Given the description of an element on the screen output the (x, y) to click on. 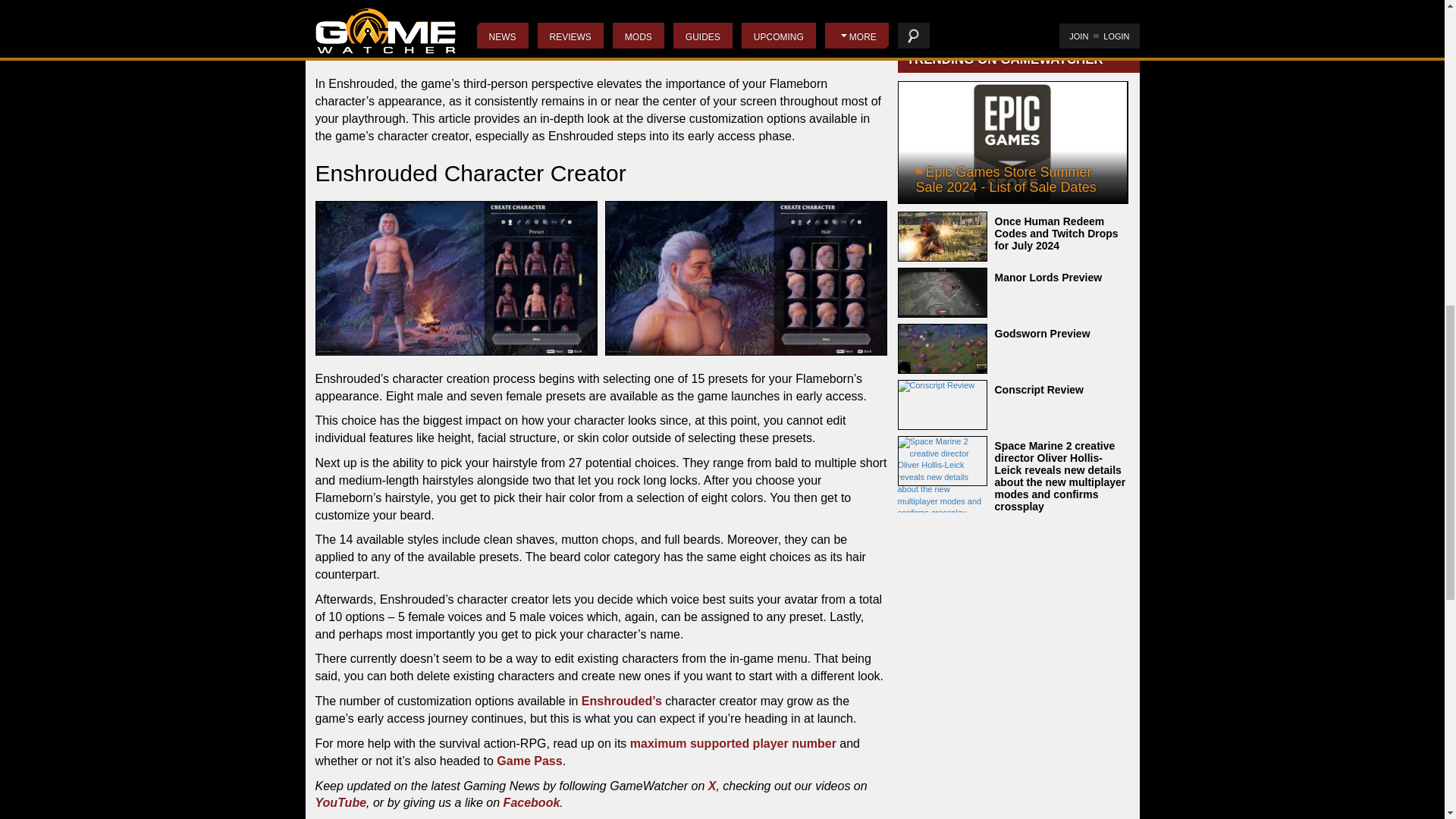
maximum supported player number (732, 743)
Enshrouded (1013, 5)
Game Pass (529, 760)
YouTube (340, 802)
